Given the description of an element on the screen output the (x, y) to click on. 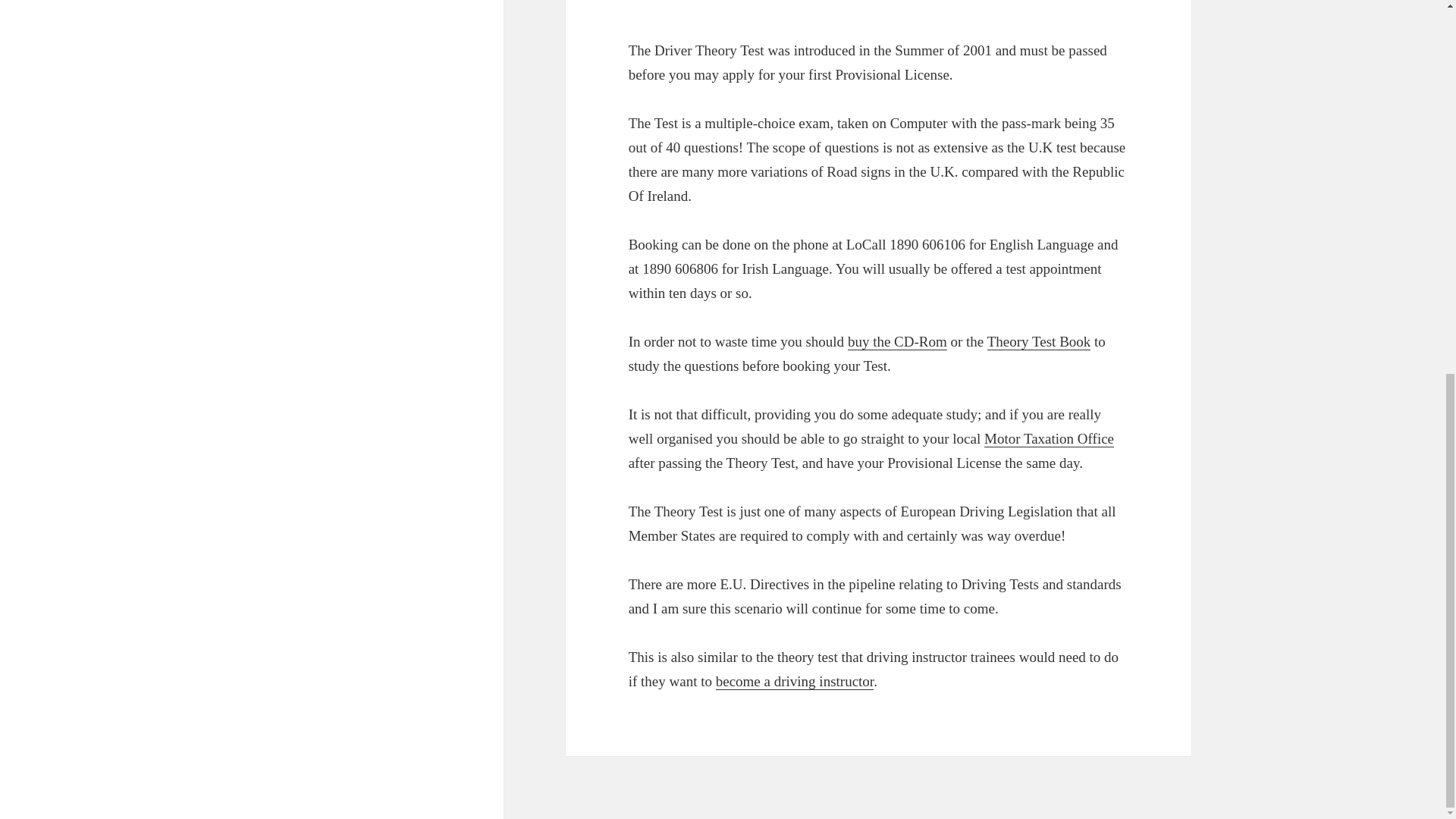
Theory Test Book (1038, 341)
become a driving instructor (794, 681)
buy the CD-Rom (897, 341)
Motor Taxation Office (1048, 438)
